Given the description of an element on the screen output the (x, y) to click on. 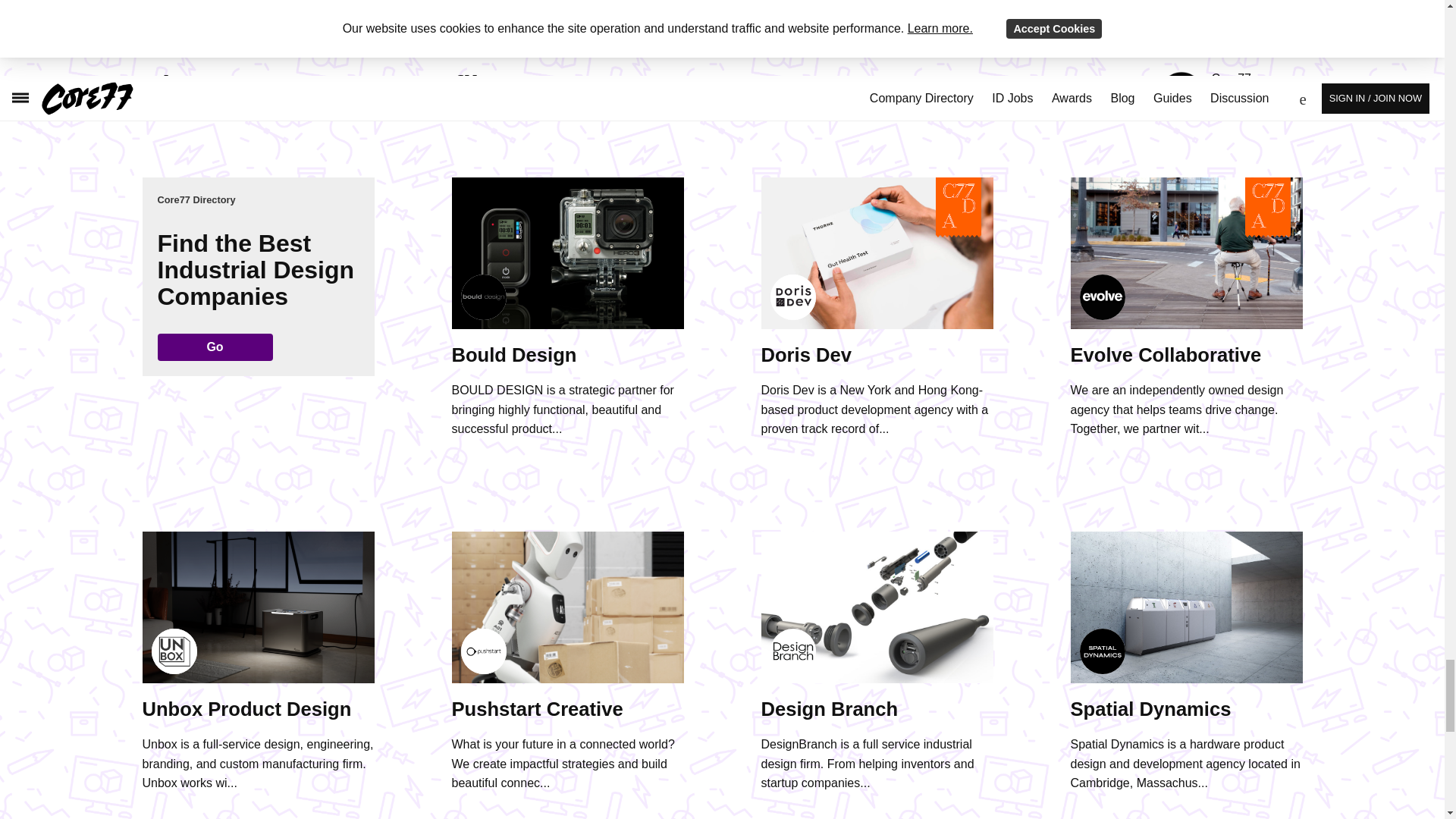
Go (215, 347)
